Given the description of an element on the screen output the (x, y) to click on. 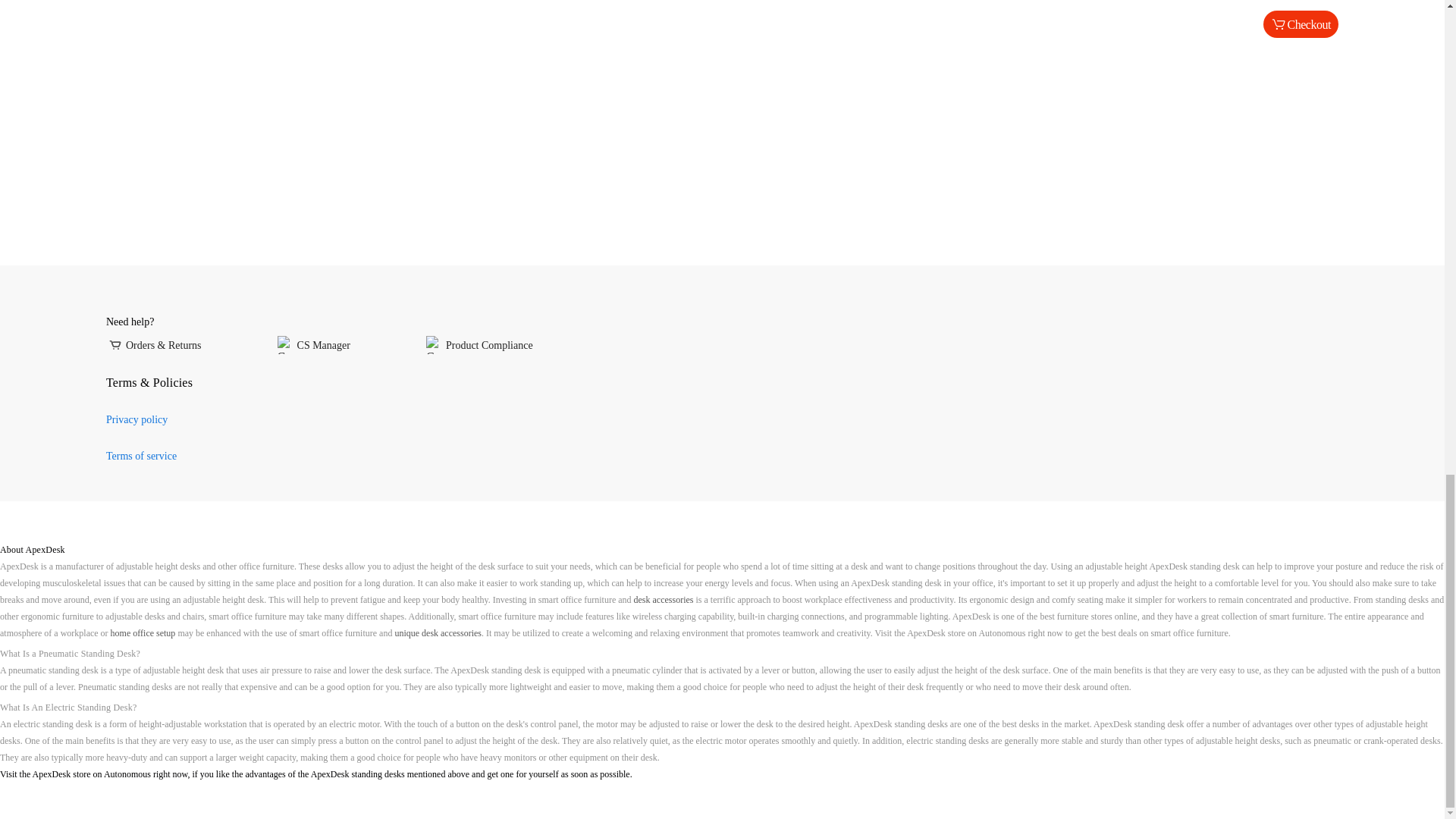
home office setup (143, 633)
Terms of service (141, 455)
unique desk accessories (437, 633)
desk accessories (663, 599)
Privacy policy (136, 419)
